Given the description of an element on the screen output the (x, y) to click on. 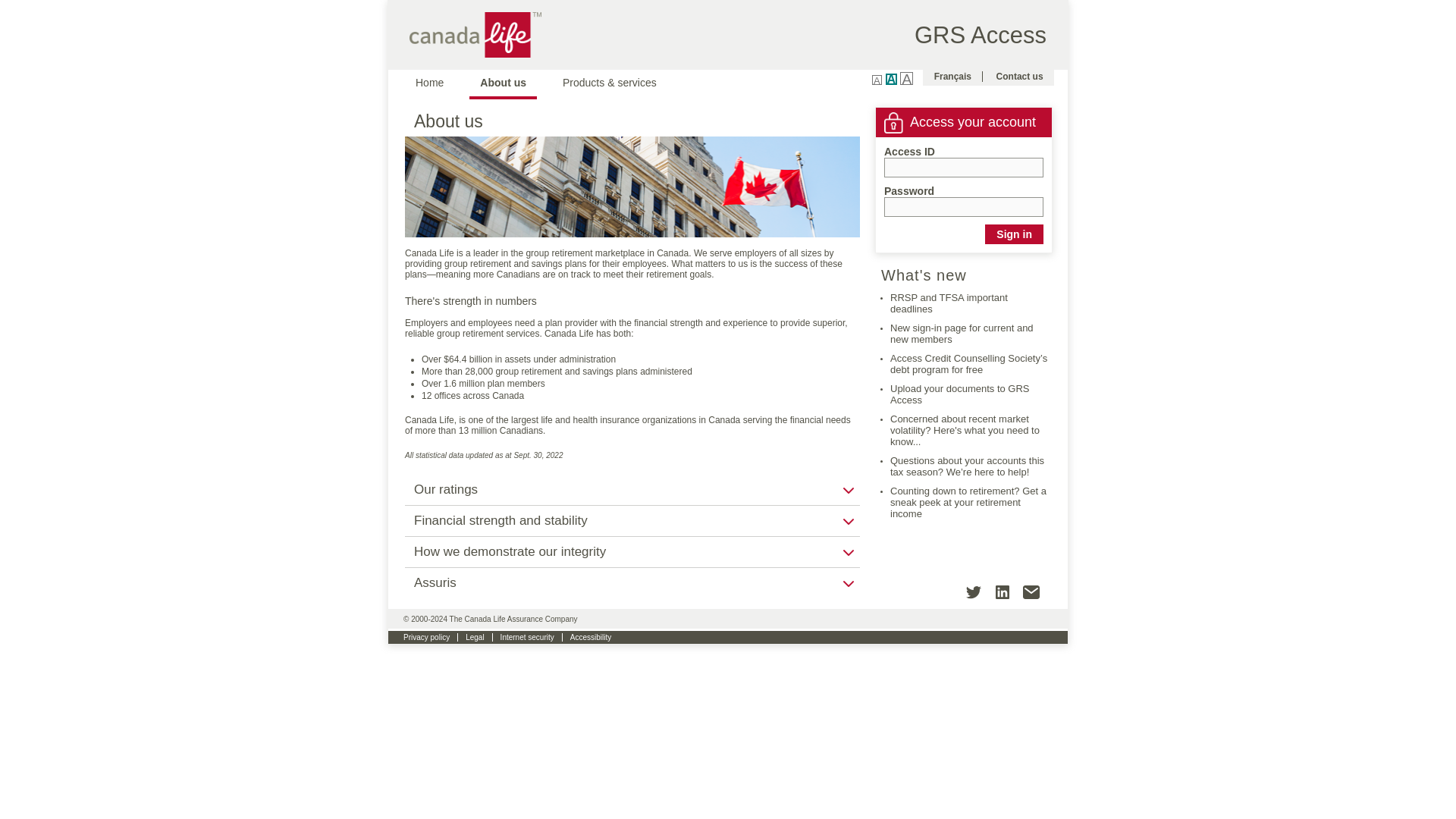
Sign in (1014, 234)
Home (429, 82)
Accessibility (590, 637)
New sign-in page for current and new members (961, 333)
Privacy policy (427, 637)
A (877, 80)
New sign-in page for current and new members (961, 333)
A (905, 78)
RRSP and TFSA important deadlines (948, 302)
A (890, 79)
